Given the description of an element on the screen output the (x, y) to click on. 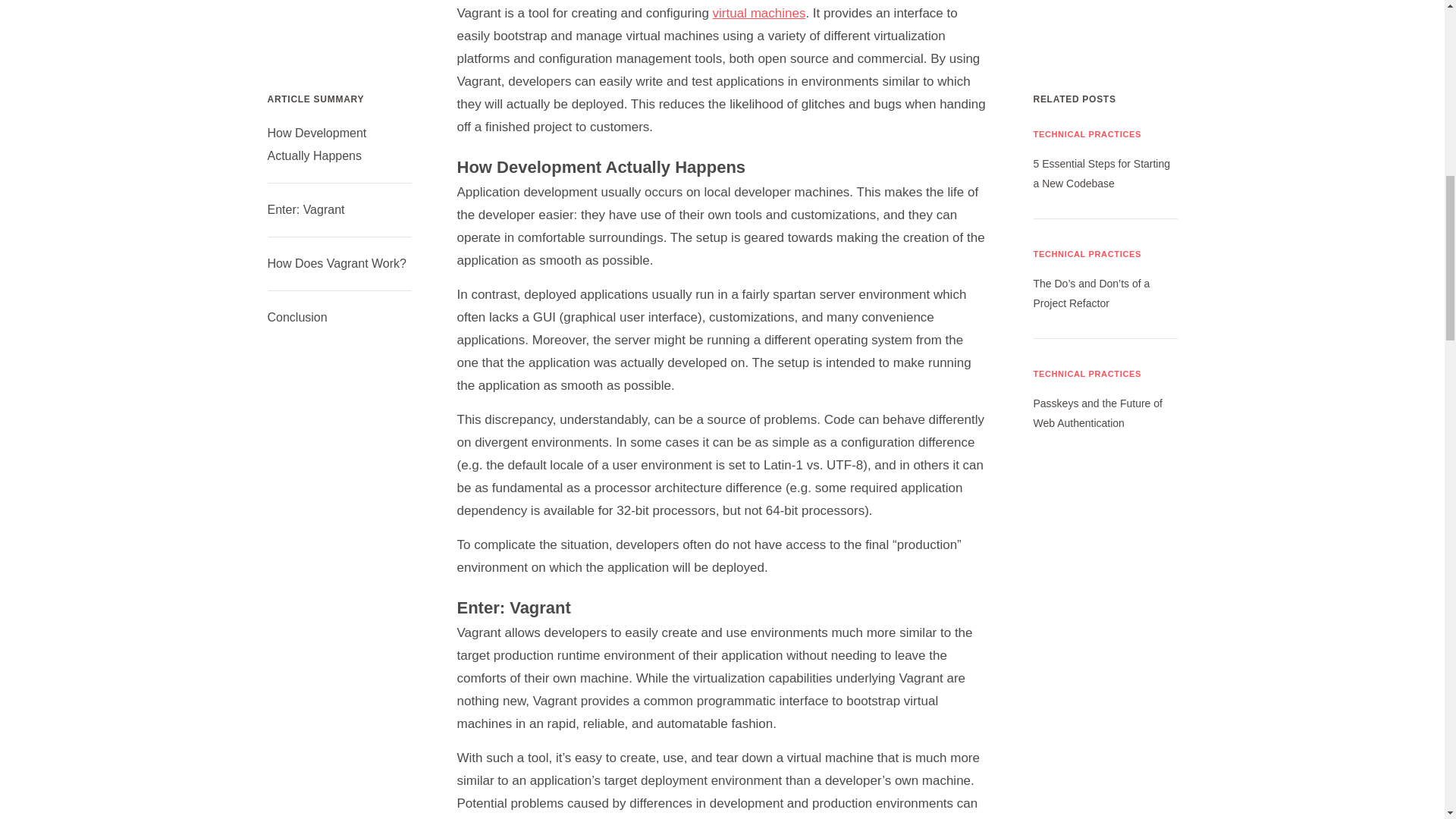
virtual machines (759, 12)
